Given the description of an element on the screen output the (x, y) to click on. 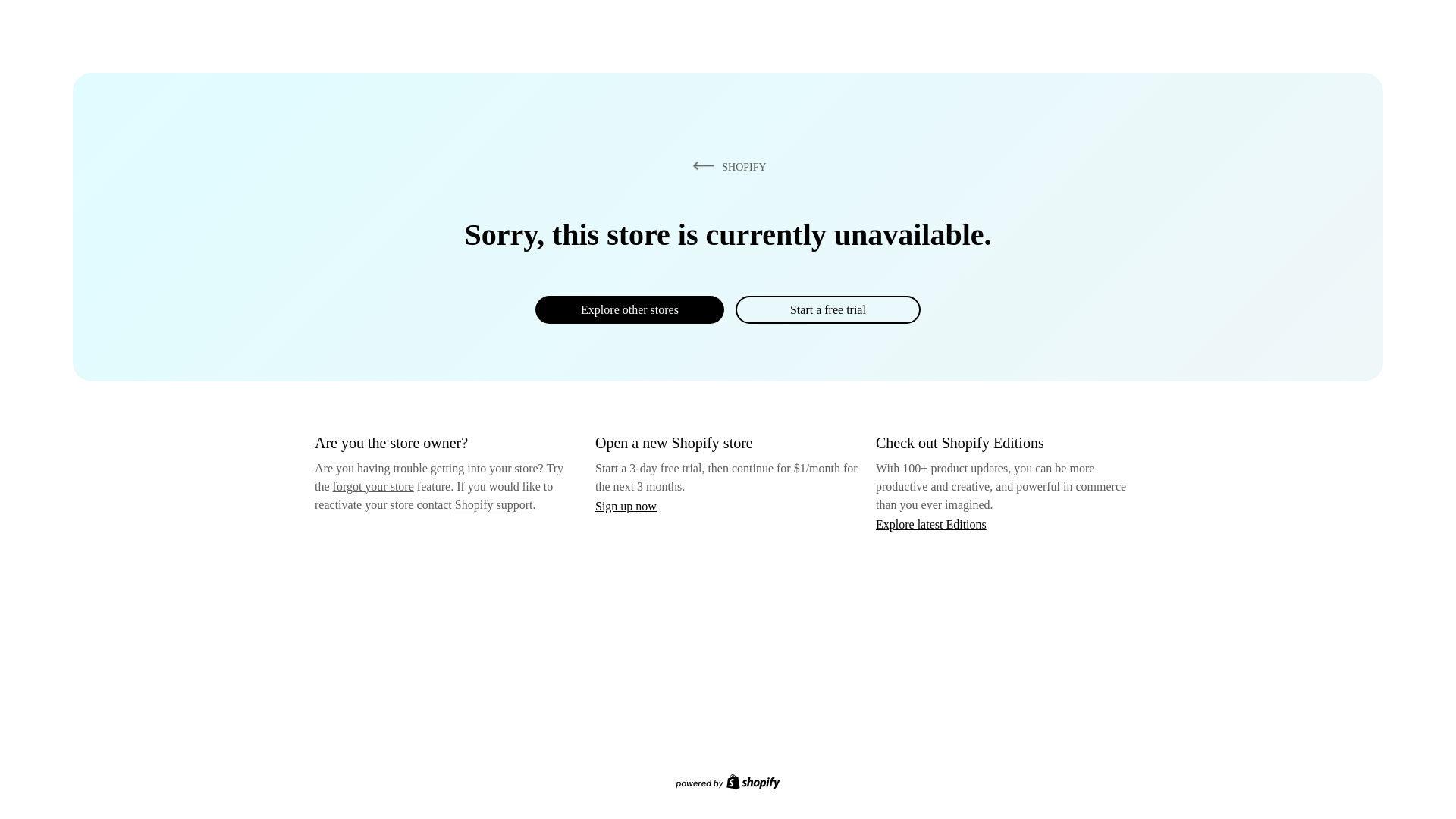
Sign up now (625, 505)
Start a free trial (827, 309)
SHOPIFY (726, 166)
forgot your store (373, 486)
Explore other stores (629, 309)
Explore latest Editions (931, 523)
Shopify support (493, 504)
